Given the description of an element on the screen output the (x, y) to click on. 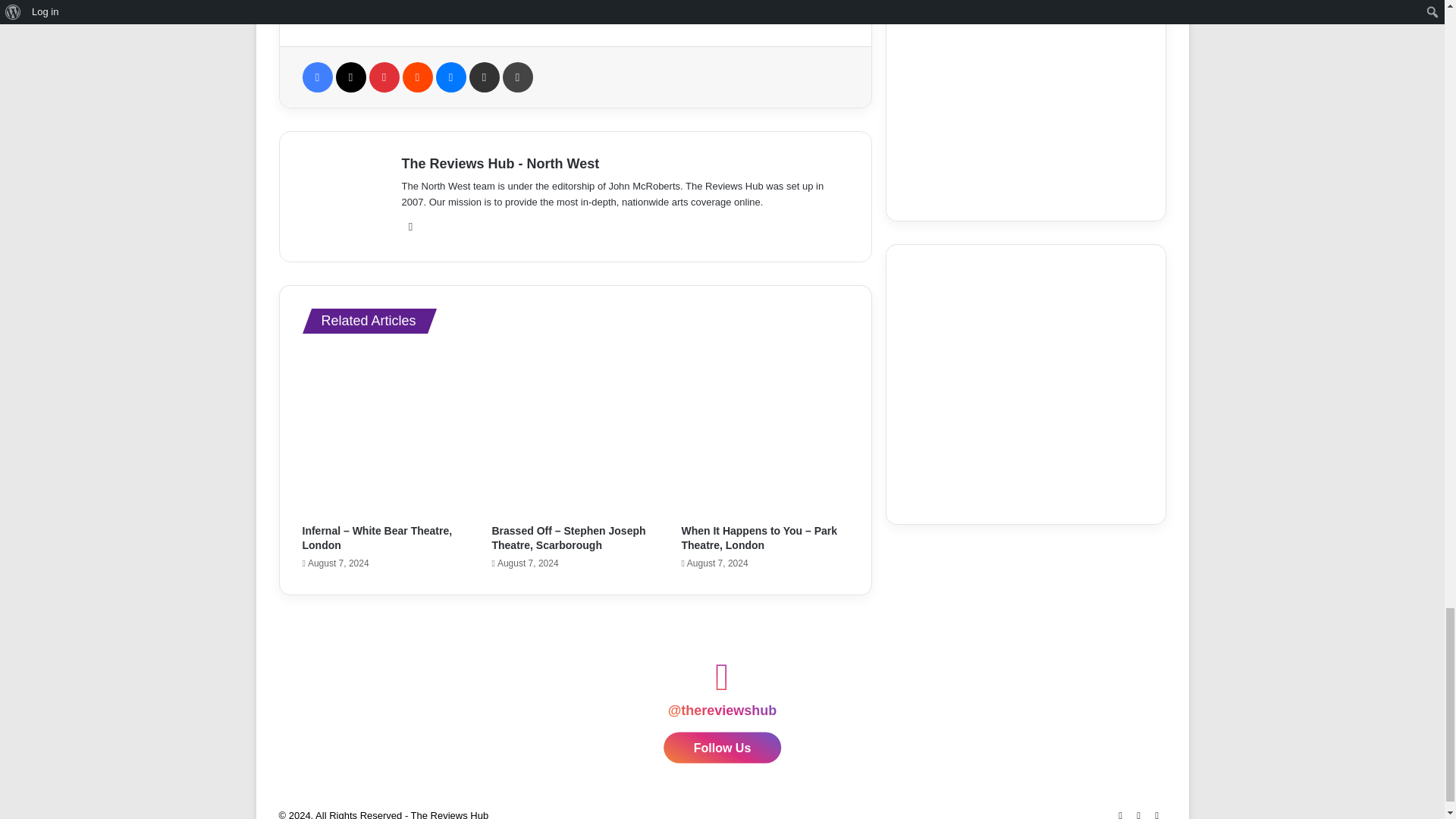
X (349, 77)
Facebook (316, 77)
Reddit (416, 77)
Pinterest (383, 77)
Share via Email (483, 77)
Messenger (450, 77)
